Given the description of an element on the screen output the (x, y) to click on. 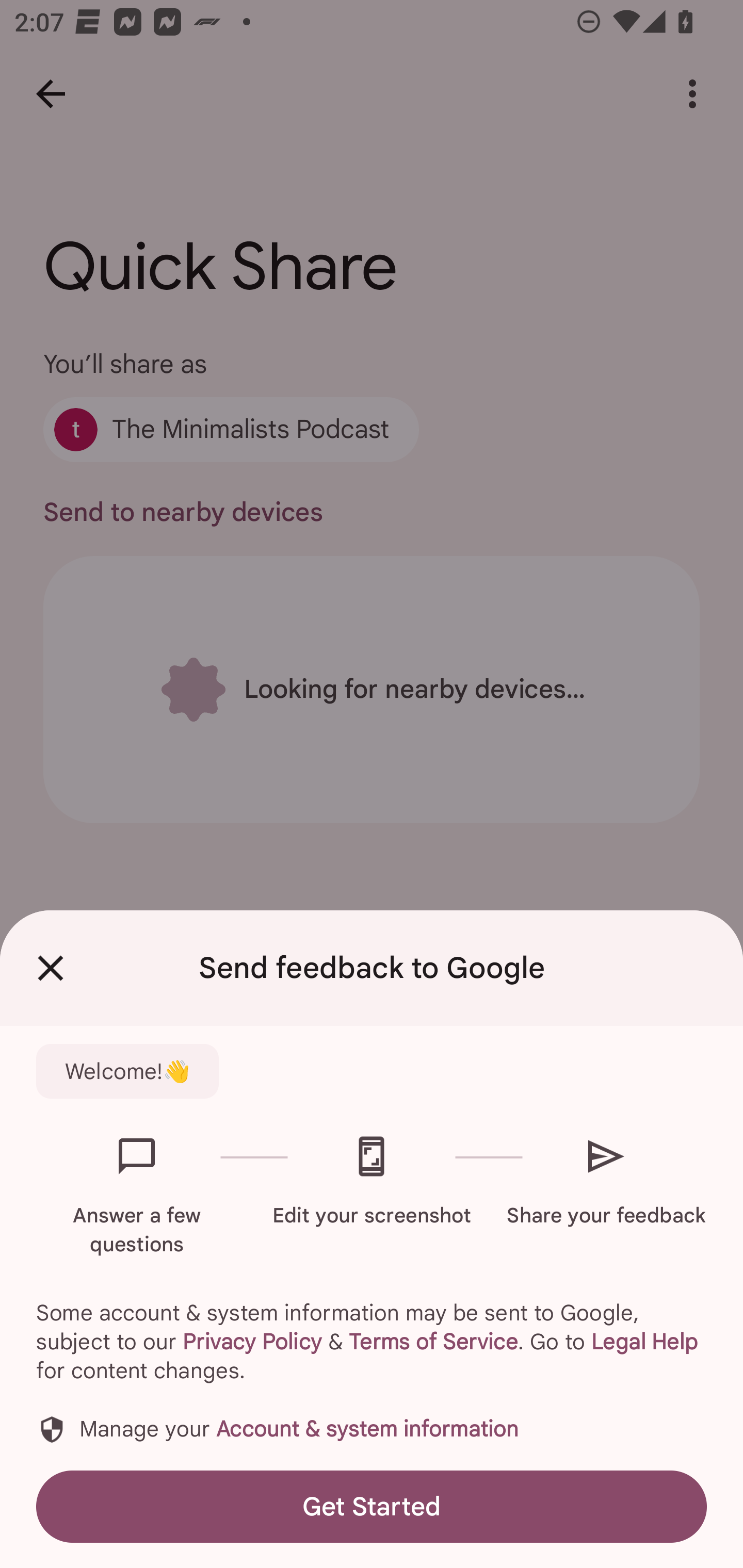
Close Feedback (50, 968)
Get Started (371, 1505)
